Given the description of an element on the screen output the (x, y) to click on. 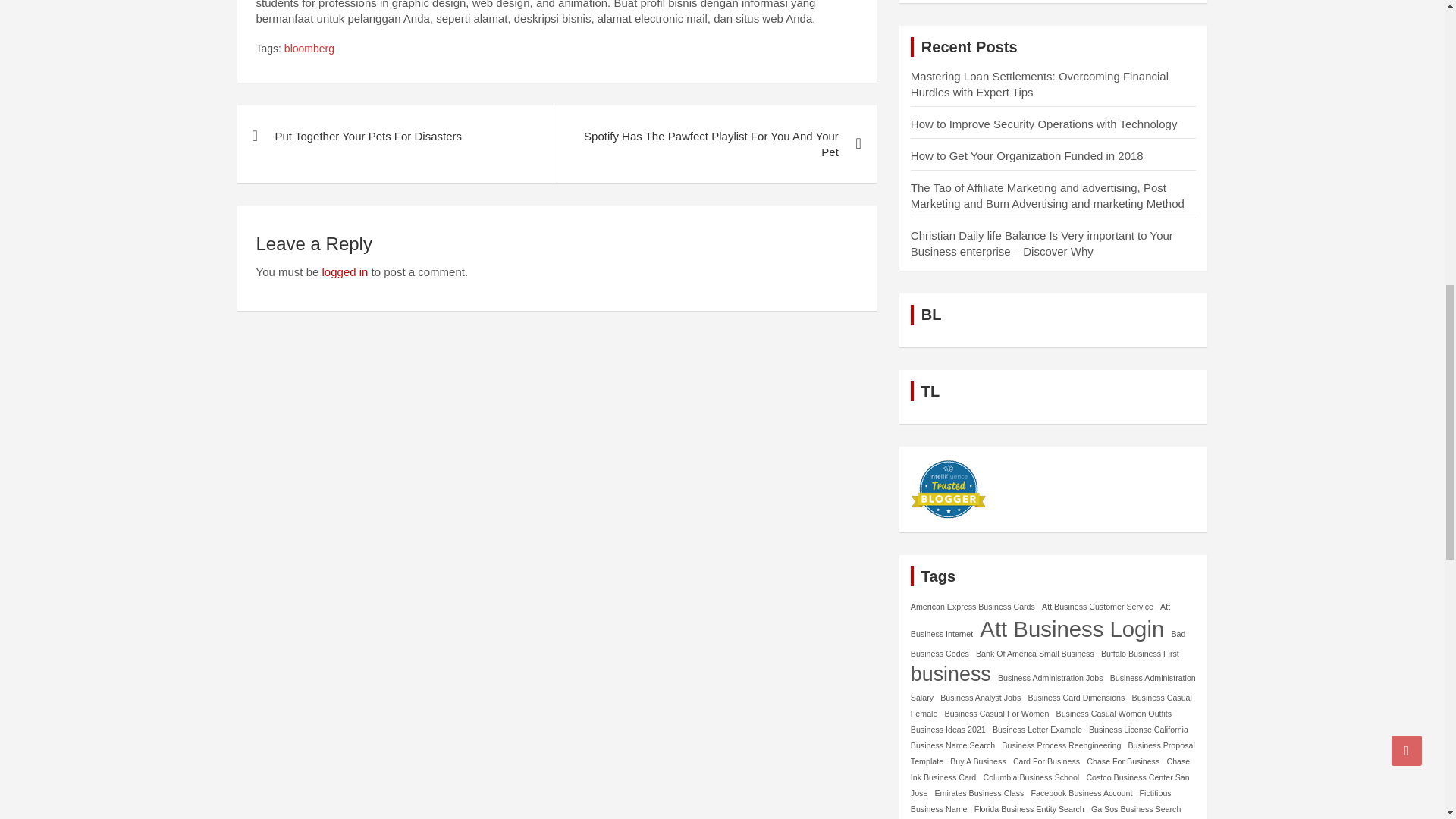
Att Business Login (1071, 629)
American Express Business Cards (973, 606)
Att Business Customer Service (1097, 606)
Bad Business Codes (1048, 643)
Put Together Your Pets For Disasters (395, 136)
How to Get Your Organization Funded in 2018 (1026, 155)
How to Improve Security Operations with Technology (1044, 123)
Spotify Has The Pawfect Playlist For You And Your Pet (716, 143)
logged in (344, 271)
